Given the description of an element on the screen output the (x, y) to click on. 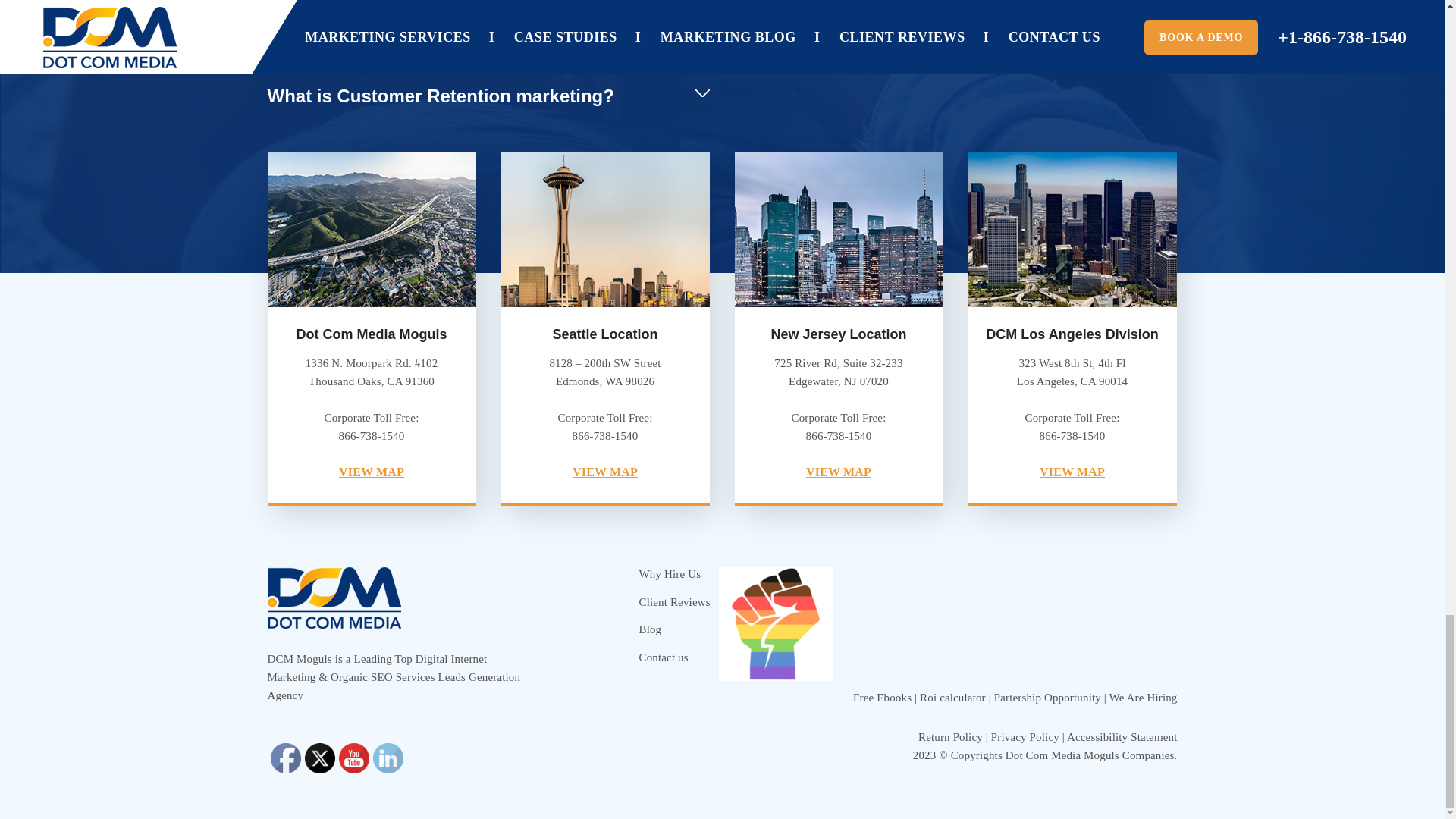
YouTube (352, 757)
LinkedIn (387, 757)
Twitter (319, 757)
Facebook (284, 757)
